Given the description of an element on the screen output the (x, y) to click on. 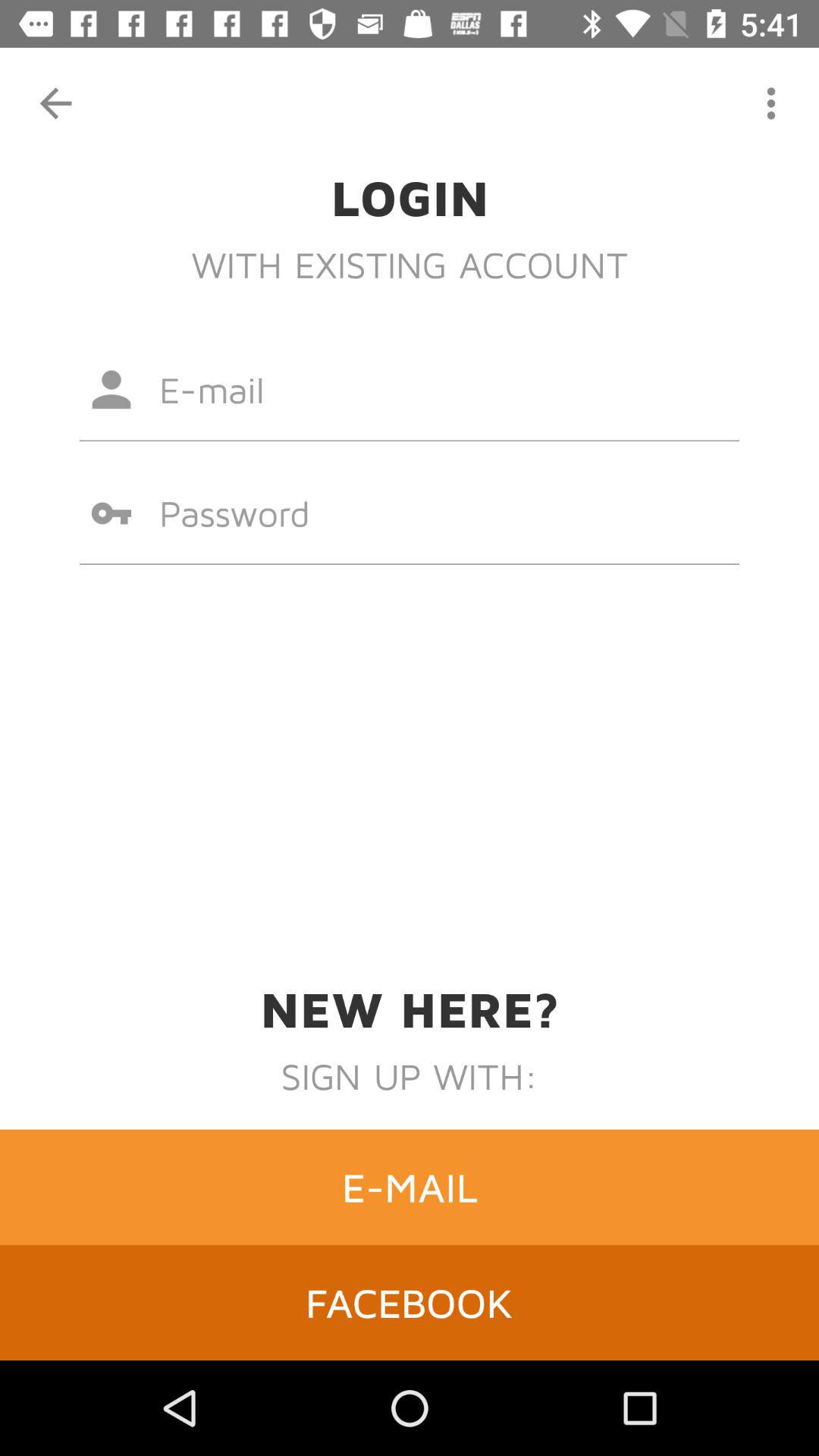
launch the icon below the sign up with: icon (409, 1186)
